Given the description of an element on the screen output the (x, y) to click on. 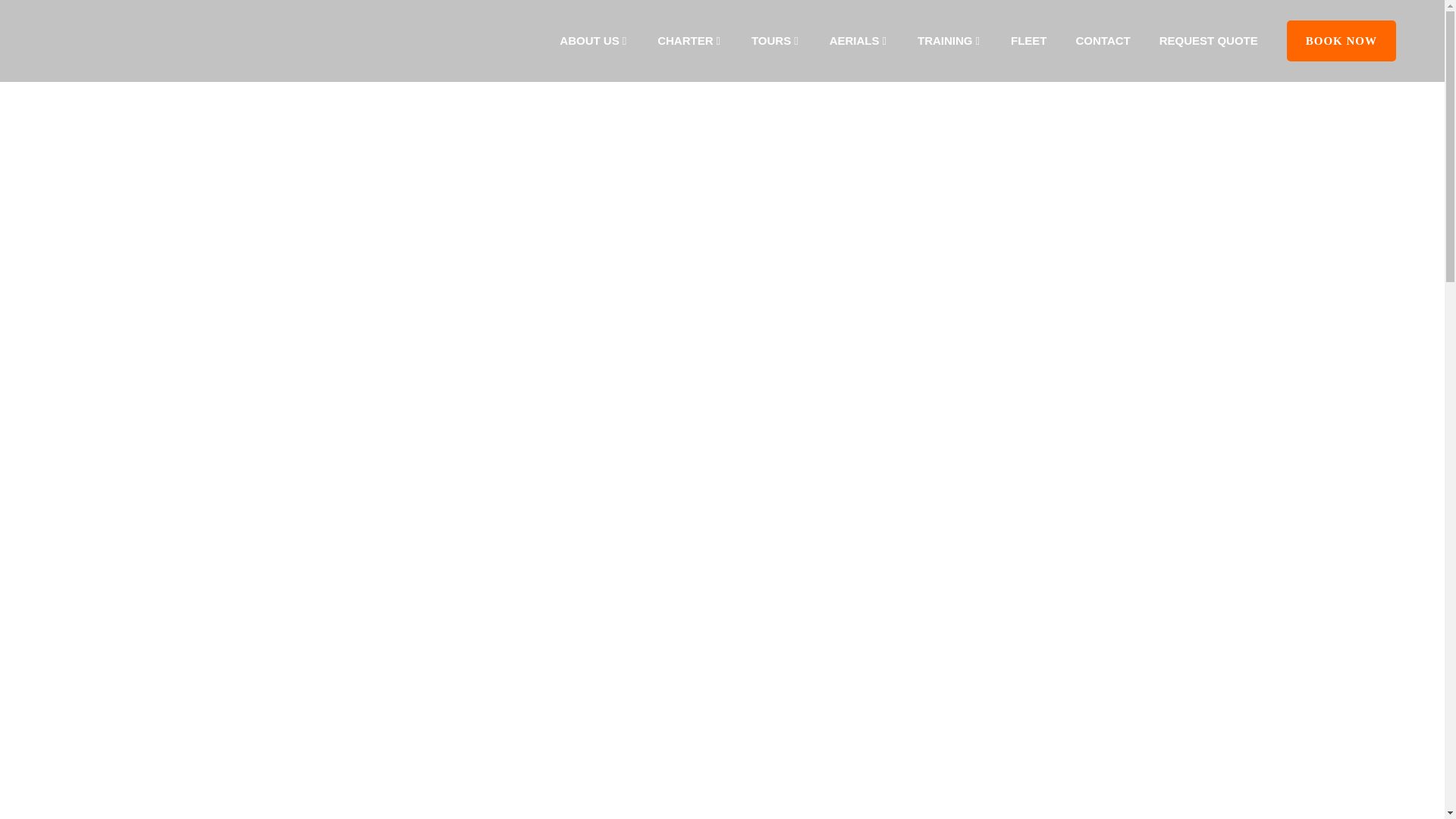
AERIALS (858, 40)
TOURS (775, 40)
TRAINING (948, 40)
REQUEST QUOTE (1208, 40)
ABOUT US (593, 40)
CHARTER (689, 40)
BOOK NOW (1341, 40)
CONTACT (1102, 40)
